Given the description of an element on the screen output the (x, y) to click on. 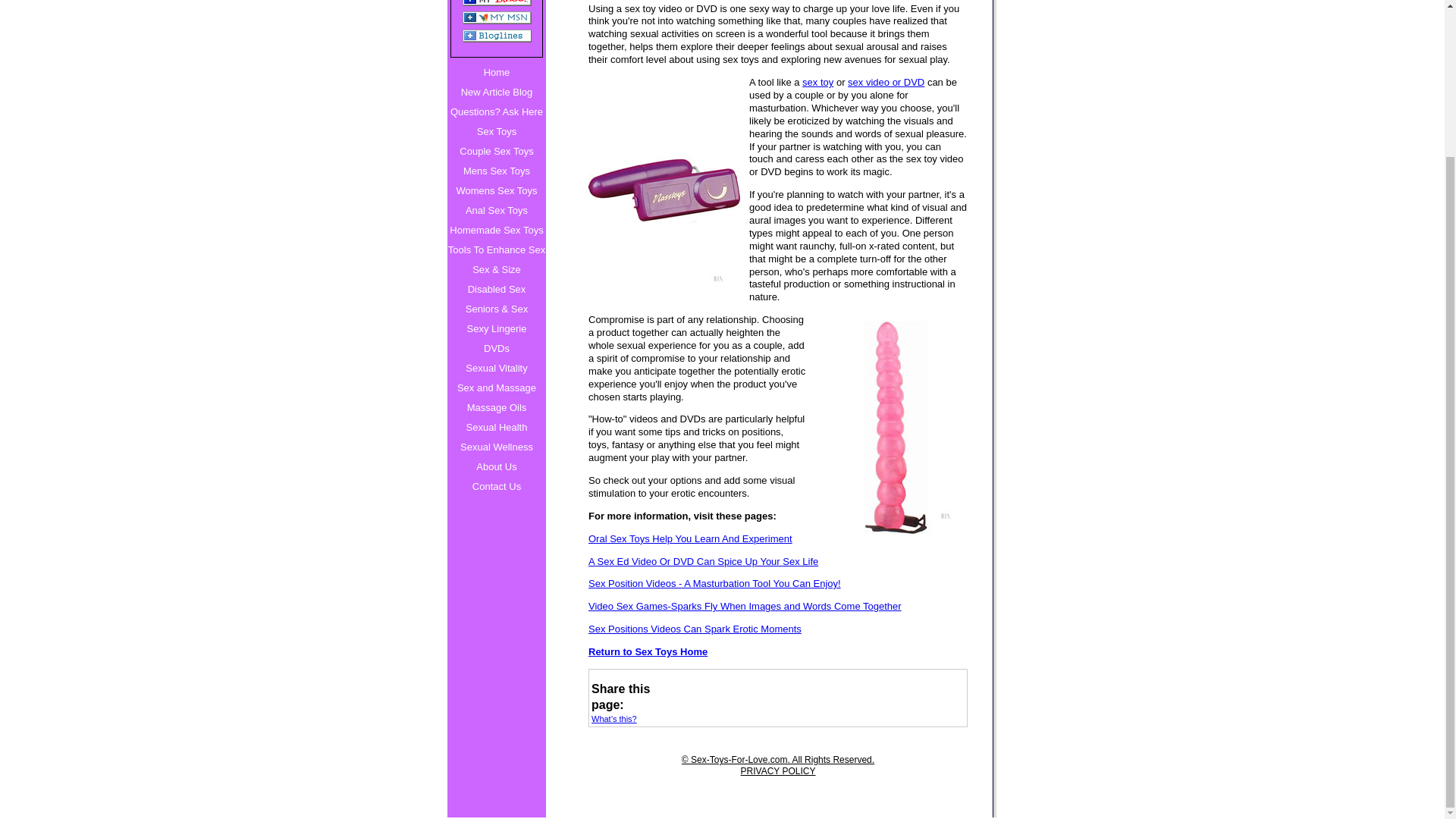
Sexual Health (496, 427)
sex toy (817, 81)
Tools To Enhance Sex (496, 250)
Anal Sex Toys (496, 210)
About Us (496, 466)
Sexy Lingerie (496, 329)
Mens Sex Toys (496, 170)
A Sex Ed Video Or DVD Can Spice Up Your Sex Life (778, 562)
Contact Us (496, 486)
Sex Toys (496, 131)
